Given the description of an element on the screen output the (x, y) to click on. 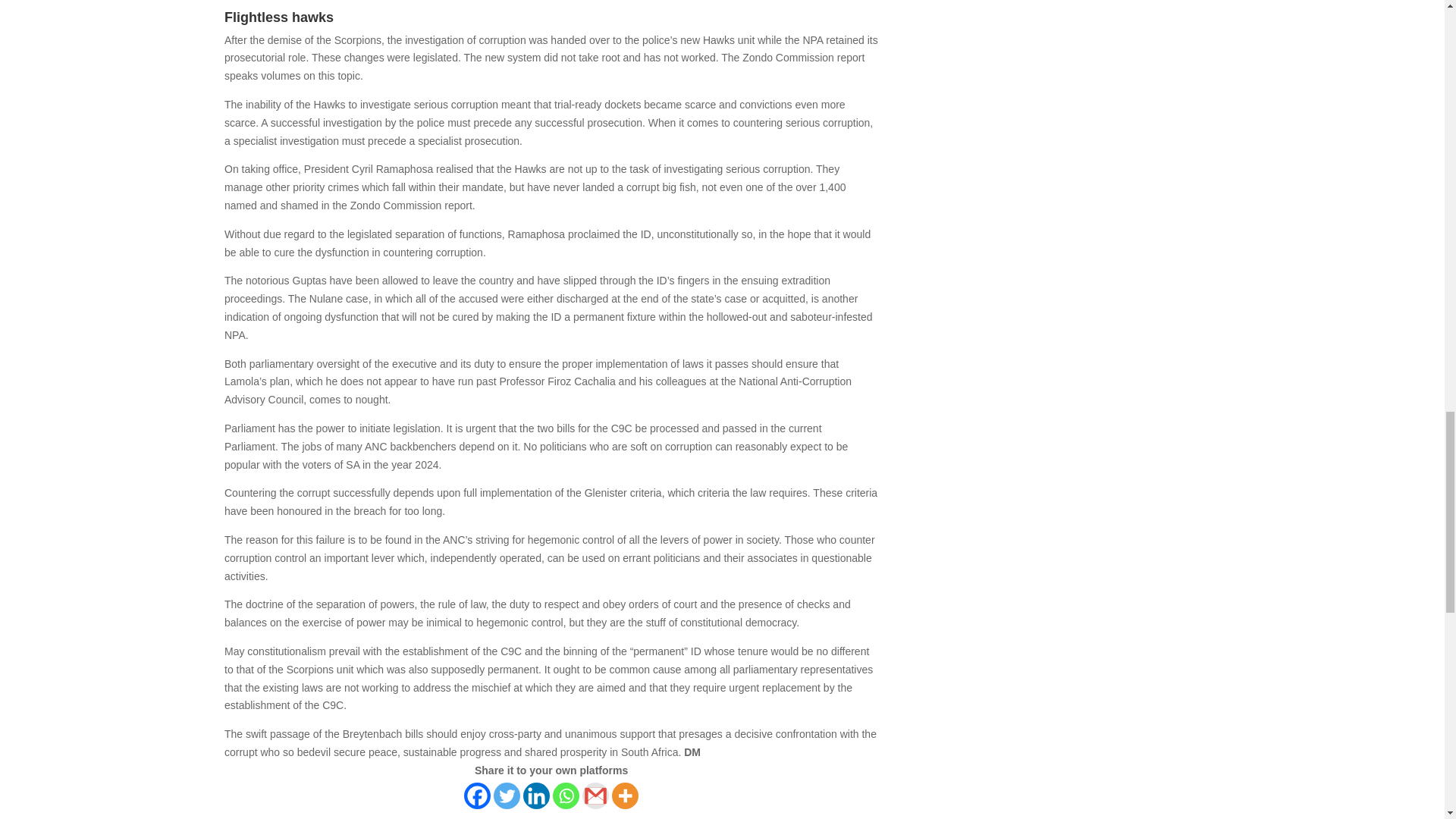
Twitter (506, 795)
Facebook (477, 795)
More (625, 795)
Whatsapp (566, 795)
Linkedin (536, 795)
Google Gmail (595, 795)
